Given the description of an element on the screen output the (x, y) to click on. 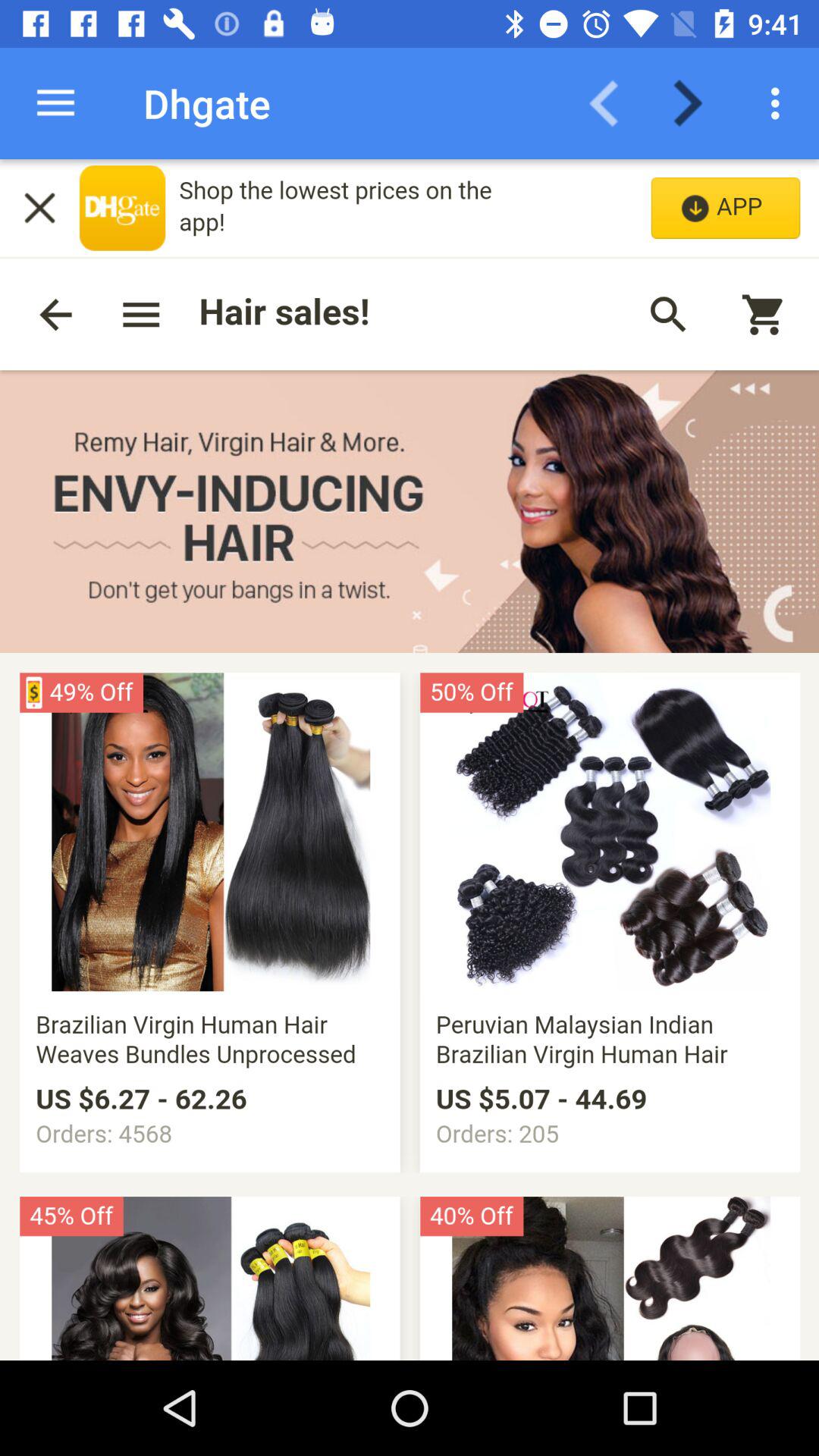
advertisement page (409, 759)
